Given the description of an element on the screen output the (x, y) to click on. 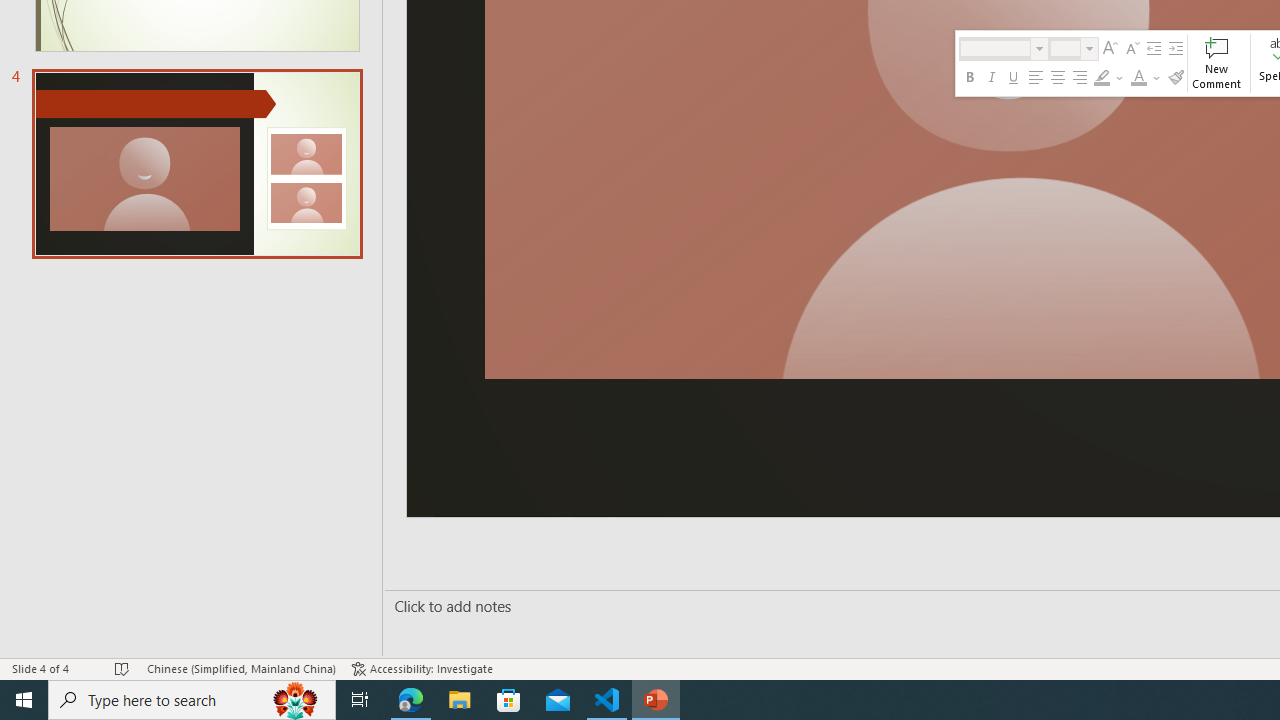
Increase Indent (1175, 48)
Text Highlight Color (1101, 78)
Accessibility Checker Accessibility: Investigate (422, 668)
Format Painter (1175, 78)
Class: NetUITextbox (1065, 48)
Open (1090, 48)
Font Color (1145, 78)
Italic (991, 78)
